Given the description of an element on the screen output the (x, y) to click on. 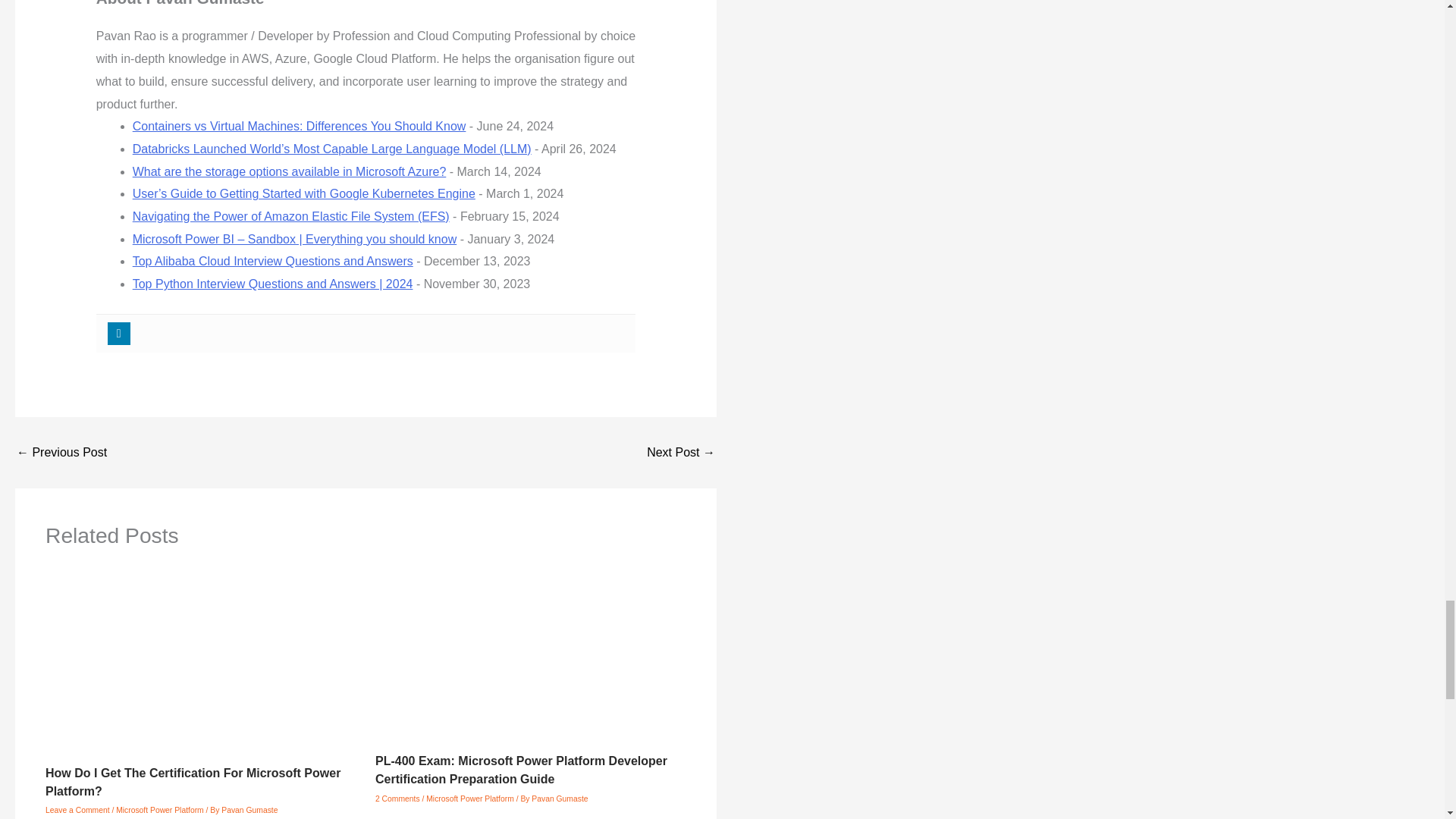
What Is Power Automate or Microsoft Flow? (61, 452)
Microsoft Power Automate - Your Complete Guide (680, 452)
